Given the description of an element on the screen output the (x, y) to click on. 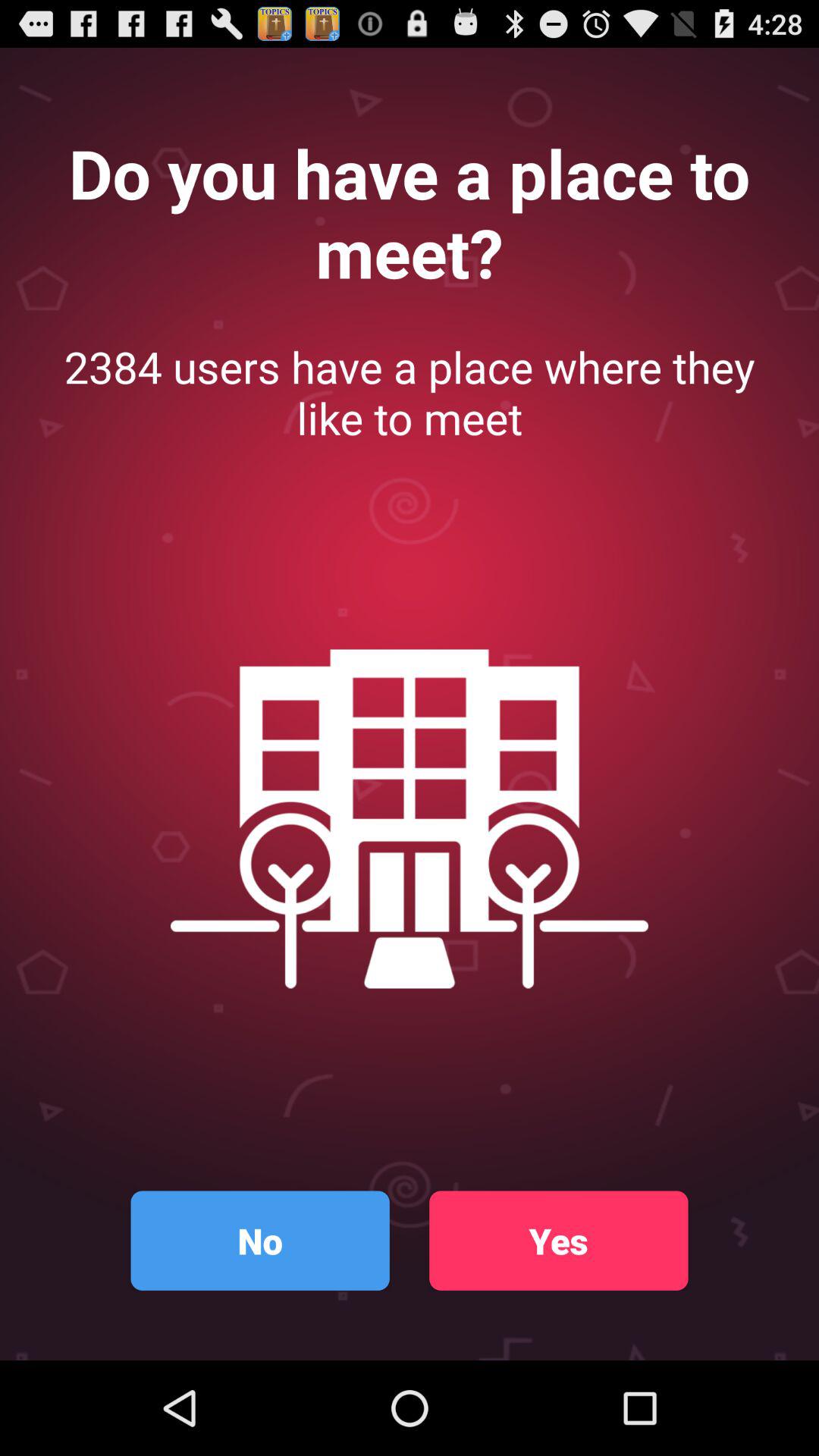
turn off button at the bottom left corner (259, 1240)
